Given the description of an element on the screen output the (x, y) to click on. 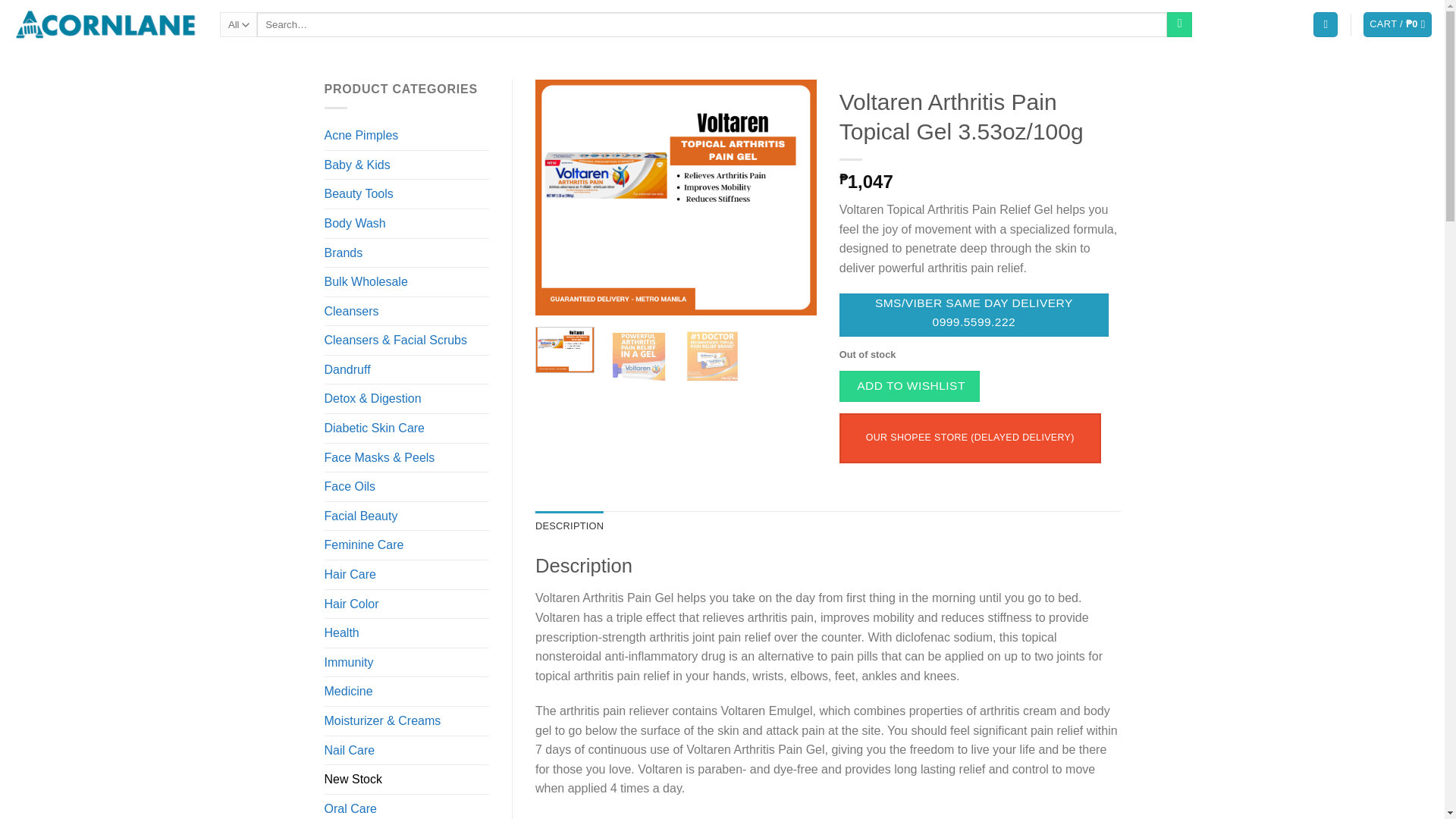
Hair Color (406, 604)
Nail Care (406, 750)
Cart (1397, 24)
Medicine (406, 691)
Acne Pimples (406, 135)
Bulk Wholesale (406, 281)
Brands (406, 253)
Search (1179, 24)
Immunity (406, 662)
Feminine Care (406, 544)
Face Oils (406, 486)
Body Wash (406, 223)
AcornlanePH - Share your good life (103, 23)
Health (406, 633)
Diabetic Skin Care (406, 428)
